Given the description of an element on the screen output the (x, y) to click on. 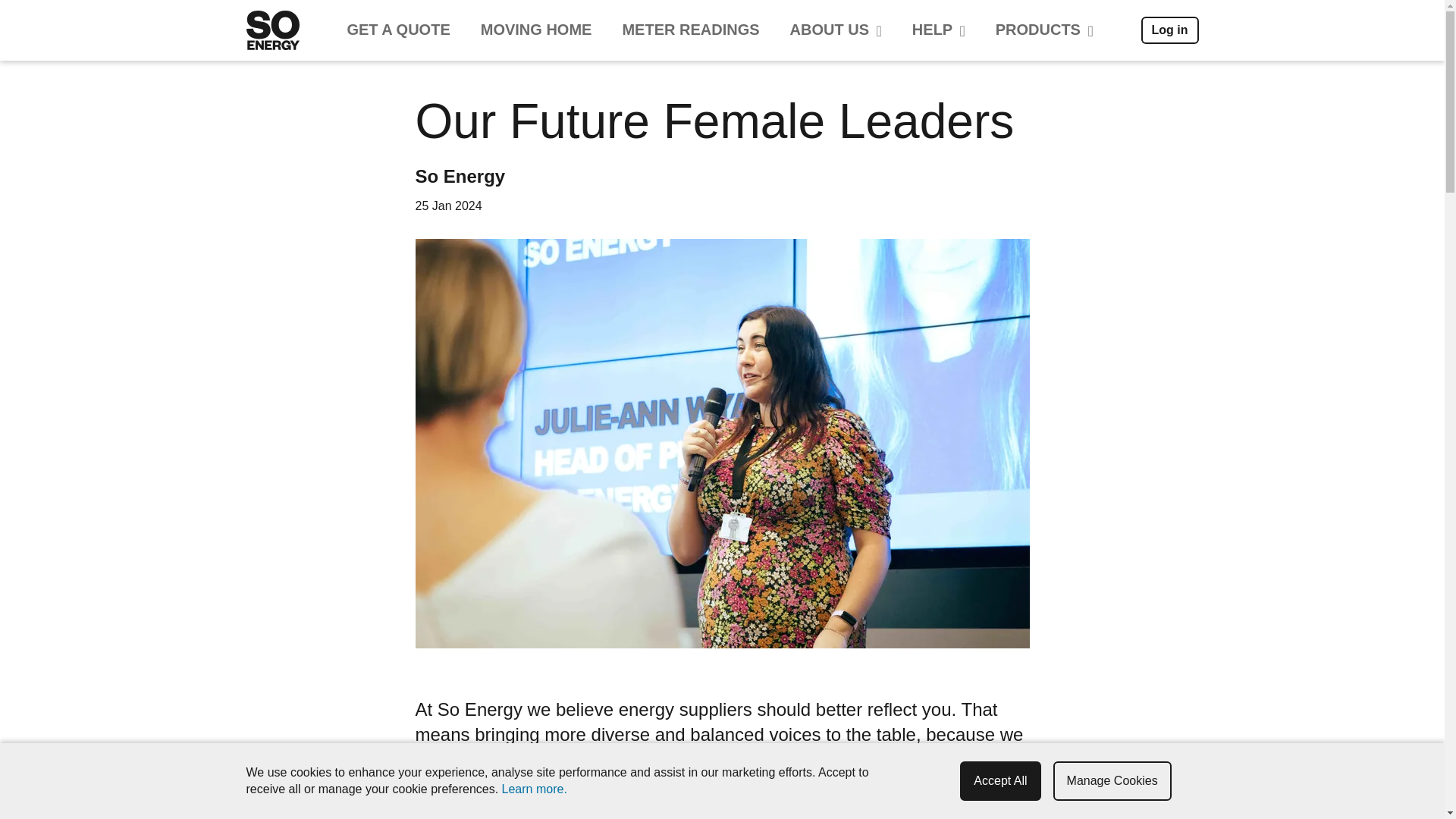
PRODUCTS (1043, 30)
MOVING HOME (536, 30)
HELP (937, 30)
ABOUT US (835, 30)
METER READINGS (690, 30)
GET A QUOTE (397, 30)
Log in (1169, 30)
